Given the description of an element on the screen output the (x, y) to click on. 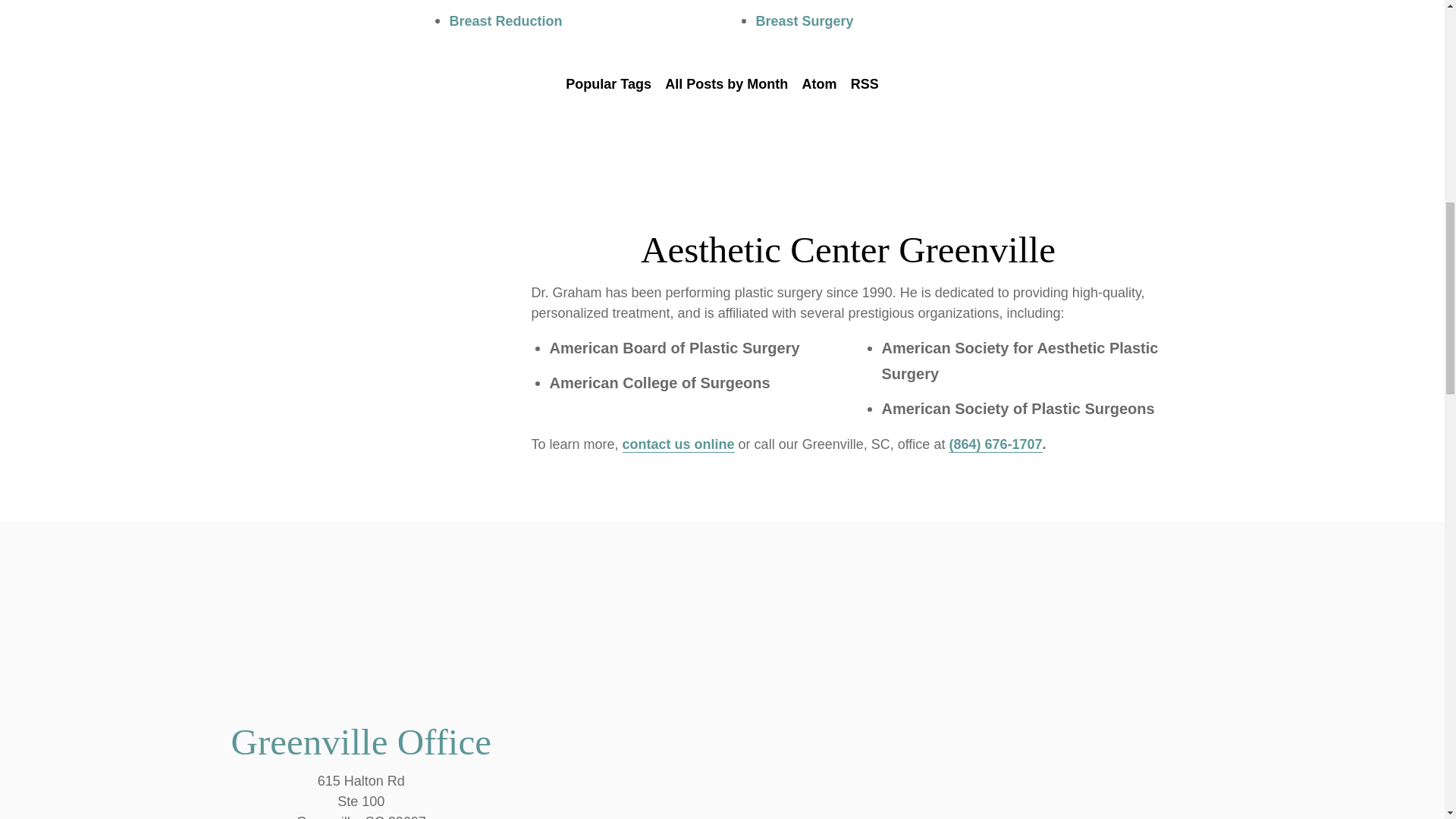
Greenville Office (361, 741)
contact us online (679, 444)
All Posts by Month (726, 84)
Breast Surgery (804, 20)
Breast Reduction (505, 20)
Atom (818, 84)
Popular Tags (608, 84)
RSS (864, 84)
